Given the description of an element on the screen output the (x, y) to click on. 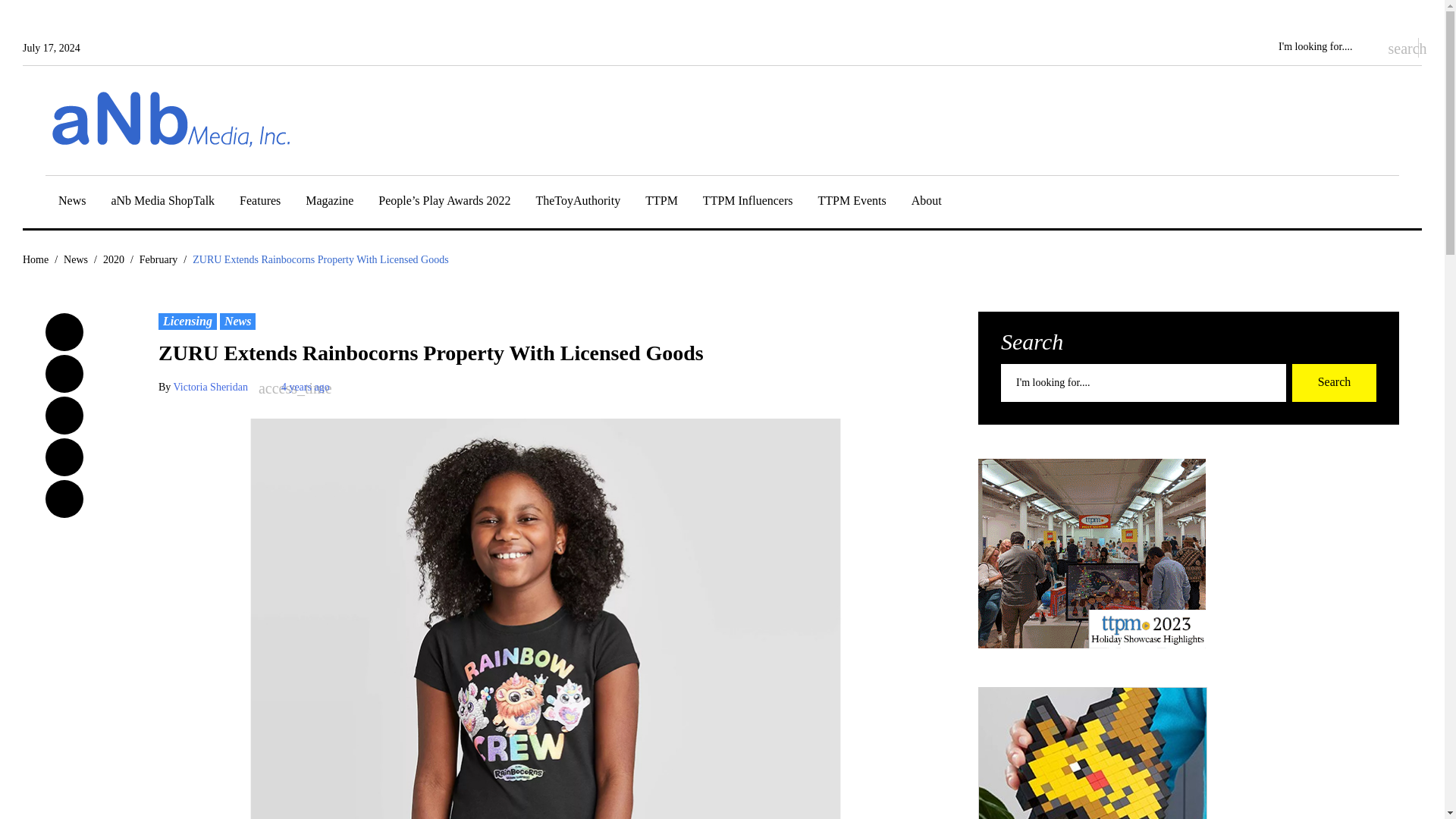
News (72, 203)
News (72, 203)
Magazine (329, 203)
aNb Media ShopTalk (162, 203)
Search for: (1324, 47)
TTPM Events (852, 203)
TheToyAuthority (577, 203)
TTPM (660, 203)
TTPM Influencers (748, 203)
About (926, 203)
Features (260, 203)
Features (260, 203)
search (1395, 46)
Magazine (329, 203)
aNb Media ShopTalk (162, 203)
